Given the description of an element on the screen output the (x, y) to click on. 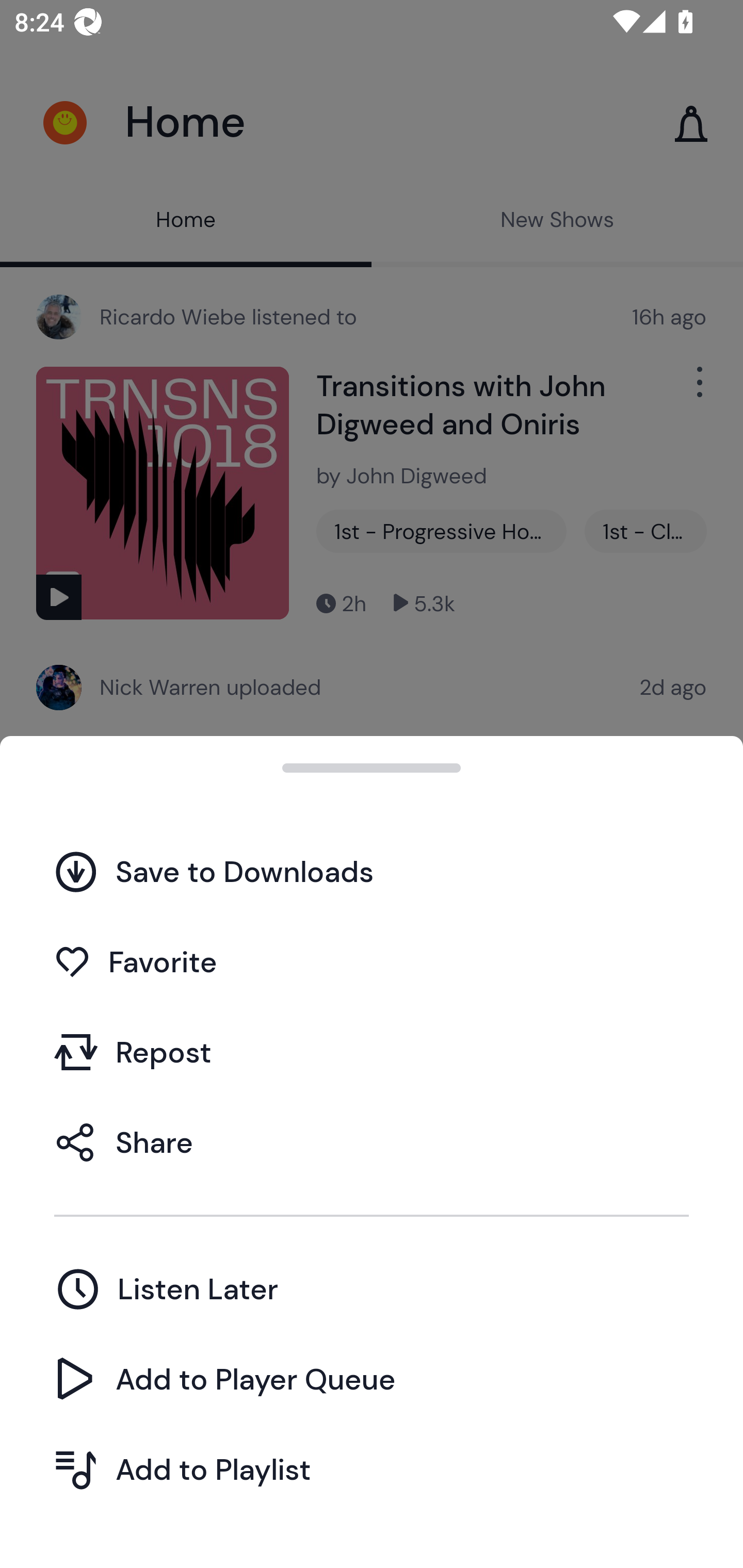
Save to Downloads (371, 871)
Favorite (371, 961)
Repost (371, 1051)
Share (371, 1141)
Listen Later (371, 1288)
Add to Player Queue (371, 1378)
Add to Playlist (371, 1468)
